Given the description of an element on the screen output the (x, y) to click on. 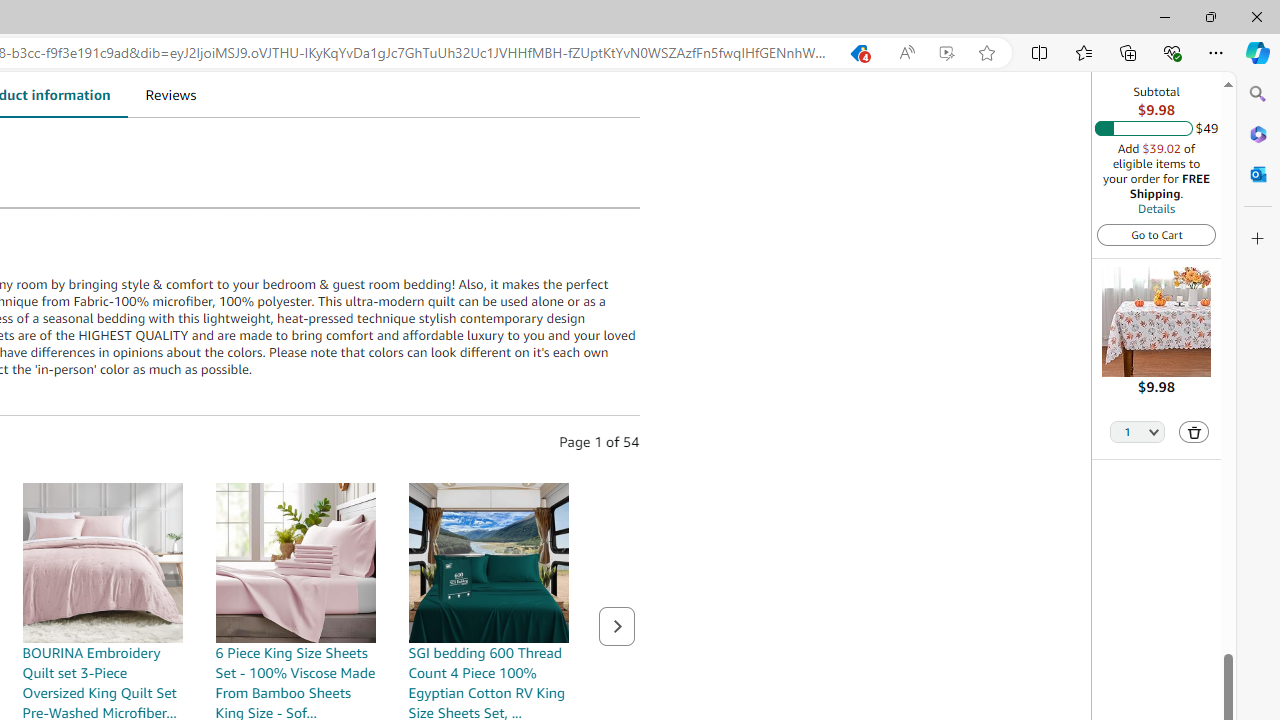
Enhance video (946, 53)
Reviews (169, 94)
Outlook (1258, 174)
Next page of related Sponsored Products (615, 625)
Shopping in Microsoft Edge (858, 53)
